Given the description of an element on the screen output the (x, y) to click on. 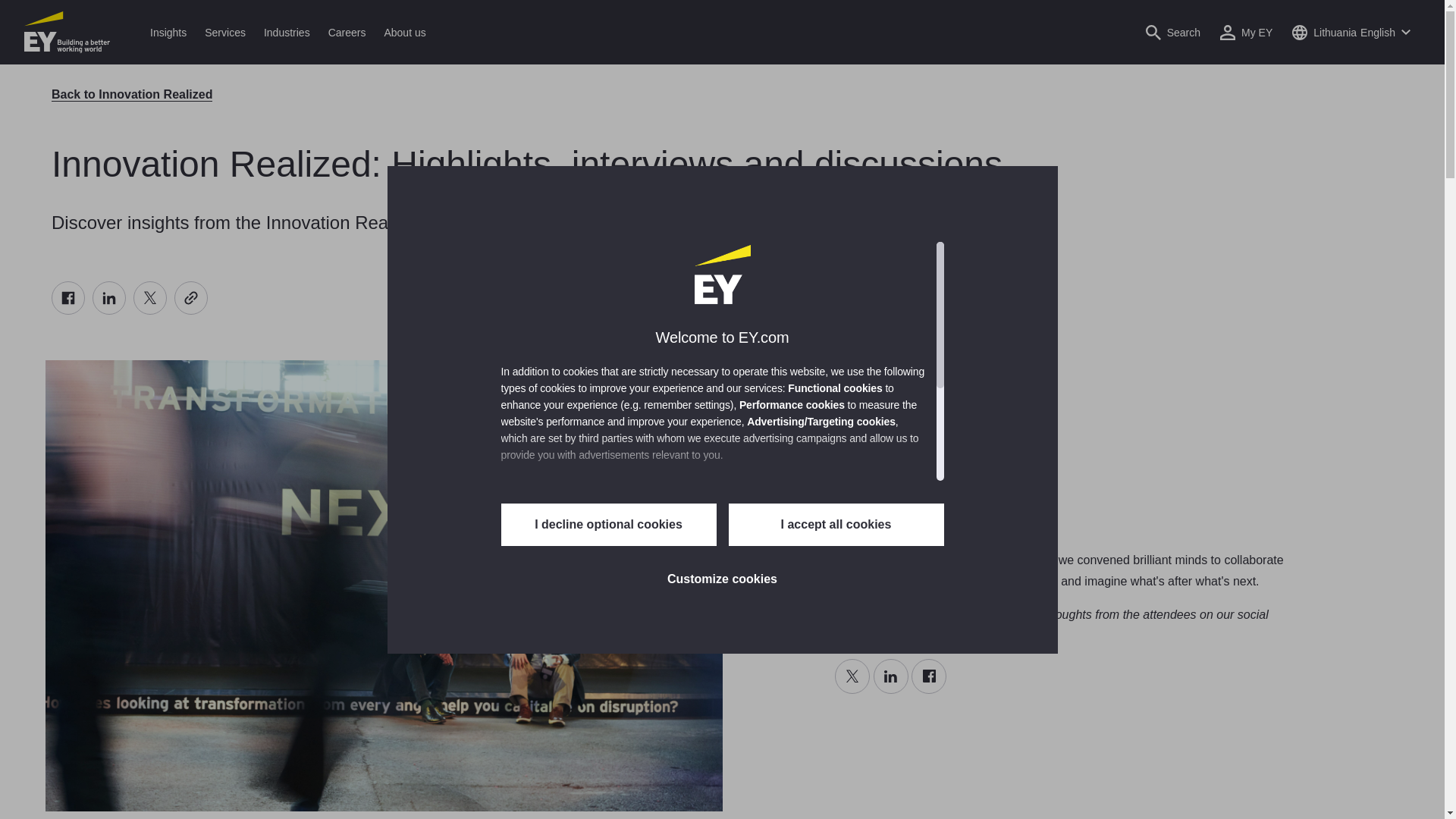
Social Media Share (129, 297)
My EY (1245, 32)
Facebook (67, 297)
Open country language switcher (1350, 32)
Linkedin (109, 297)
Copy link (191, 297)
EY Homepage (67, 32)
Open search (1172, 32)
